Given the description of an element on the screen output the (x, y) to click on. 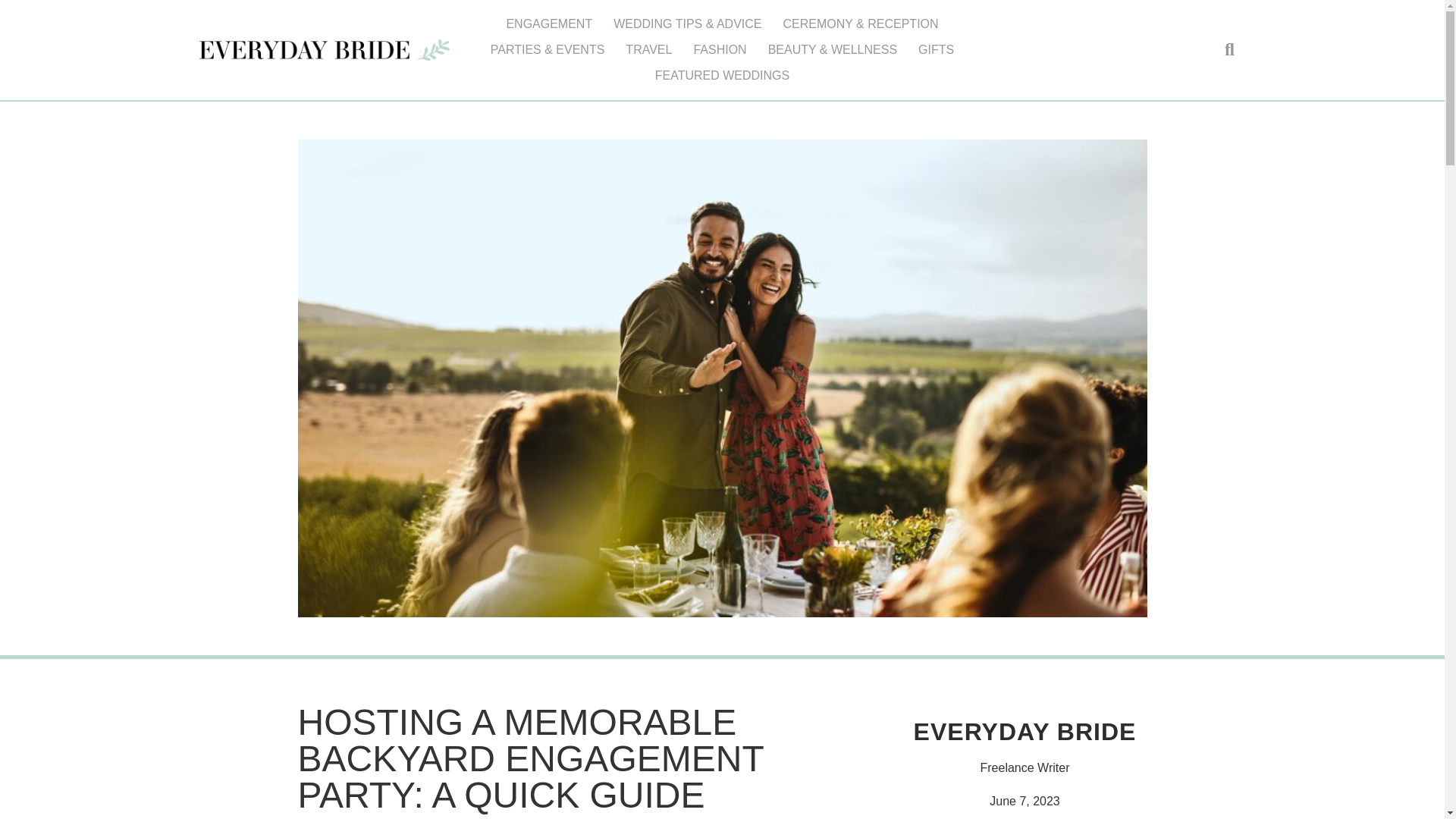
FASHION (719, 49)
ENGAGEMENT (548, 23)
GIFTS (935, 49)
TRAVEL (648, 49)
FEATURED WEDDINGS (722, 75)
